Given the description of an element on the screen output the (x, y) to click on. 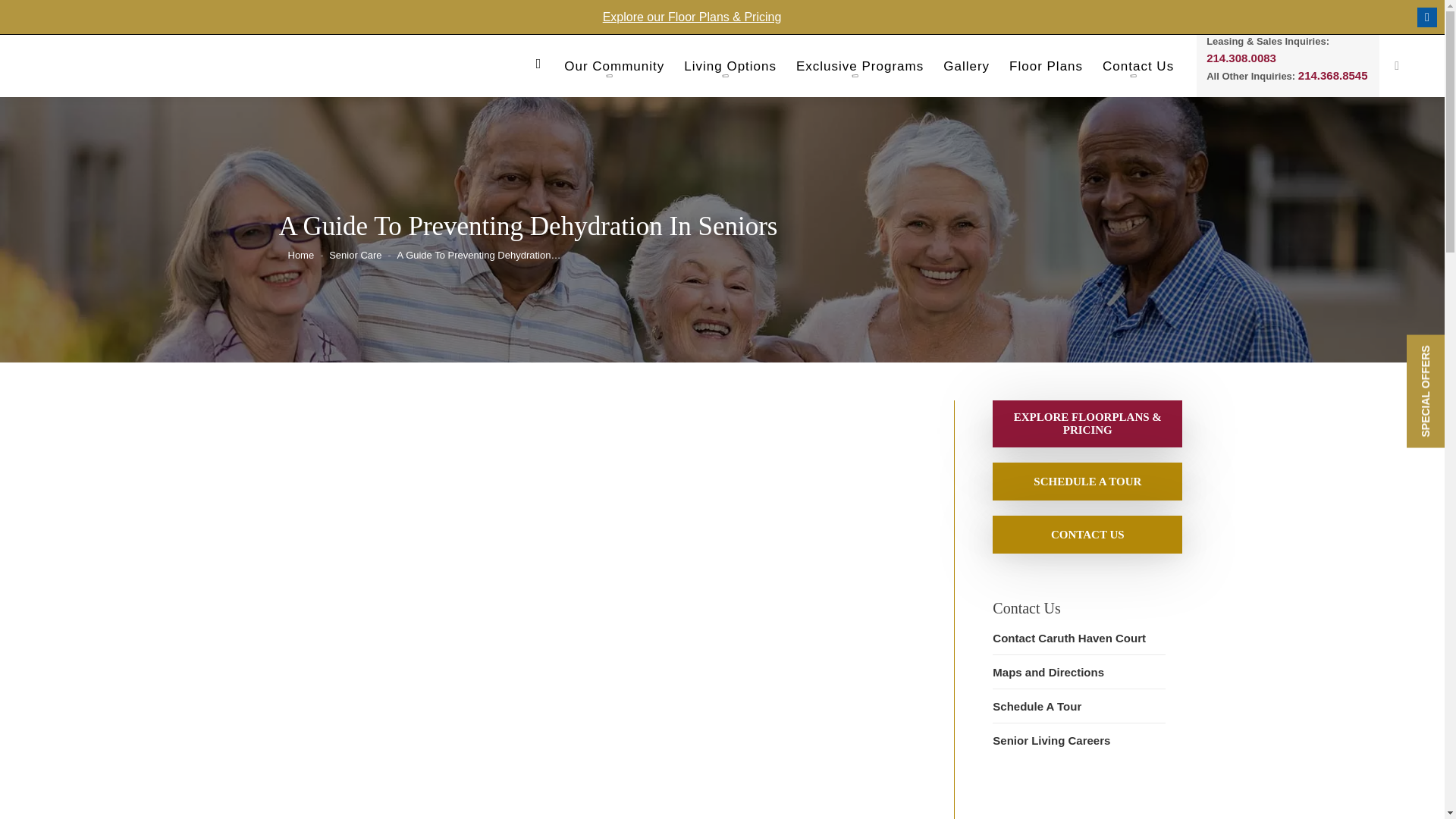
Facebook page opens in new window (1426, 17)
Living Options (730, 69)
Facebook page opens in new window (1426, 17)
Our Community (613, 69)
Schedule A Tour (1087, 481)
Contact Us (1087, 533)
